Given the description of an element on the screen output the (x, y) to click on. 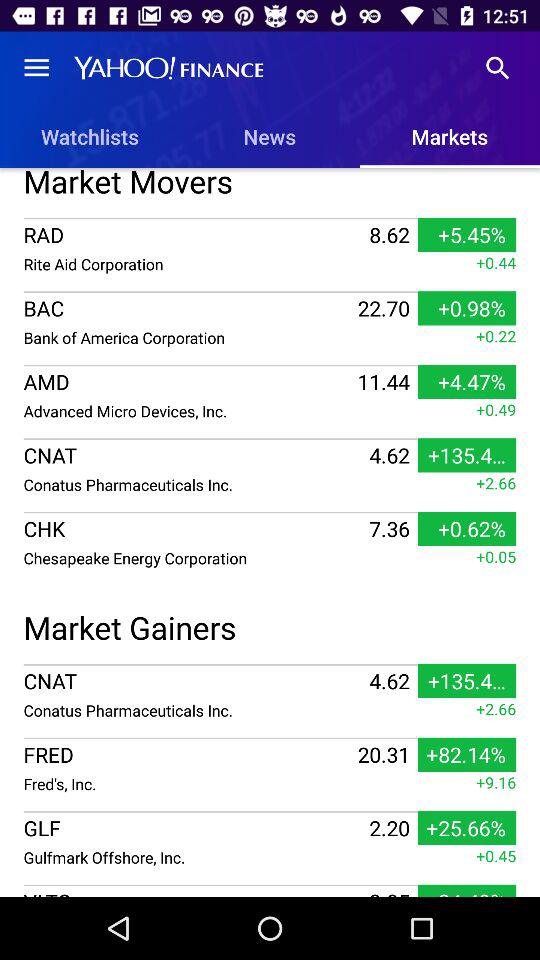
open advanced micro devices item (187, 410)
